Given the description of an element on the screen output the (x, y) to click on. 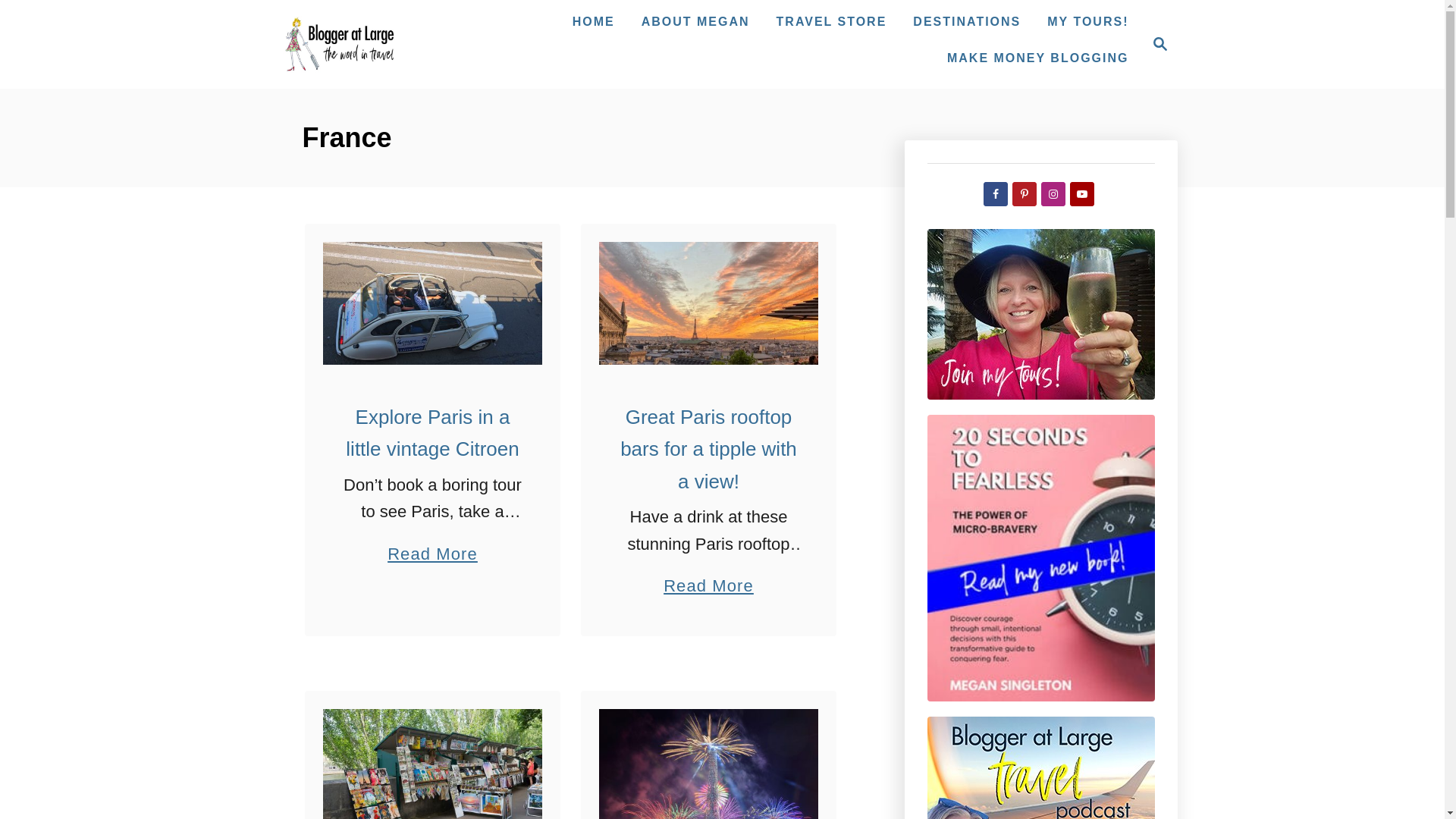
Follow on YouTube (1080, 193)
ABOUT MEGAN (695, 21)
DESTINATIONS (966, 21)
Explore Paris in a little vintage Citroen (432, 302)
What is Bastille Day all about? (708, 764)
Follow on Instagram (1052, 193)
Blogger at Large (340, 43)
HOME (593, 21)
Great Paris rooftop bars for a tipple with a view! (708, 302)
Follow on Facebook (994, 193)
Training (1038, 58)
Follow on Pinterest (1023, 193)
TRAVEL STORE (1155, 43)
